Given the description of an element on the screen output the (x, y) to click on. 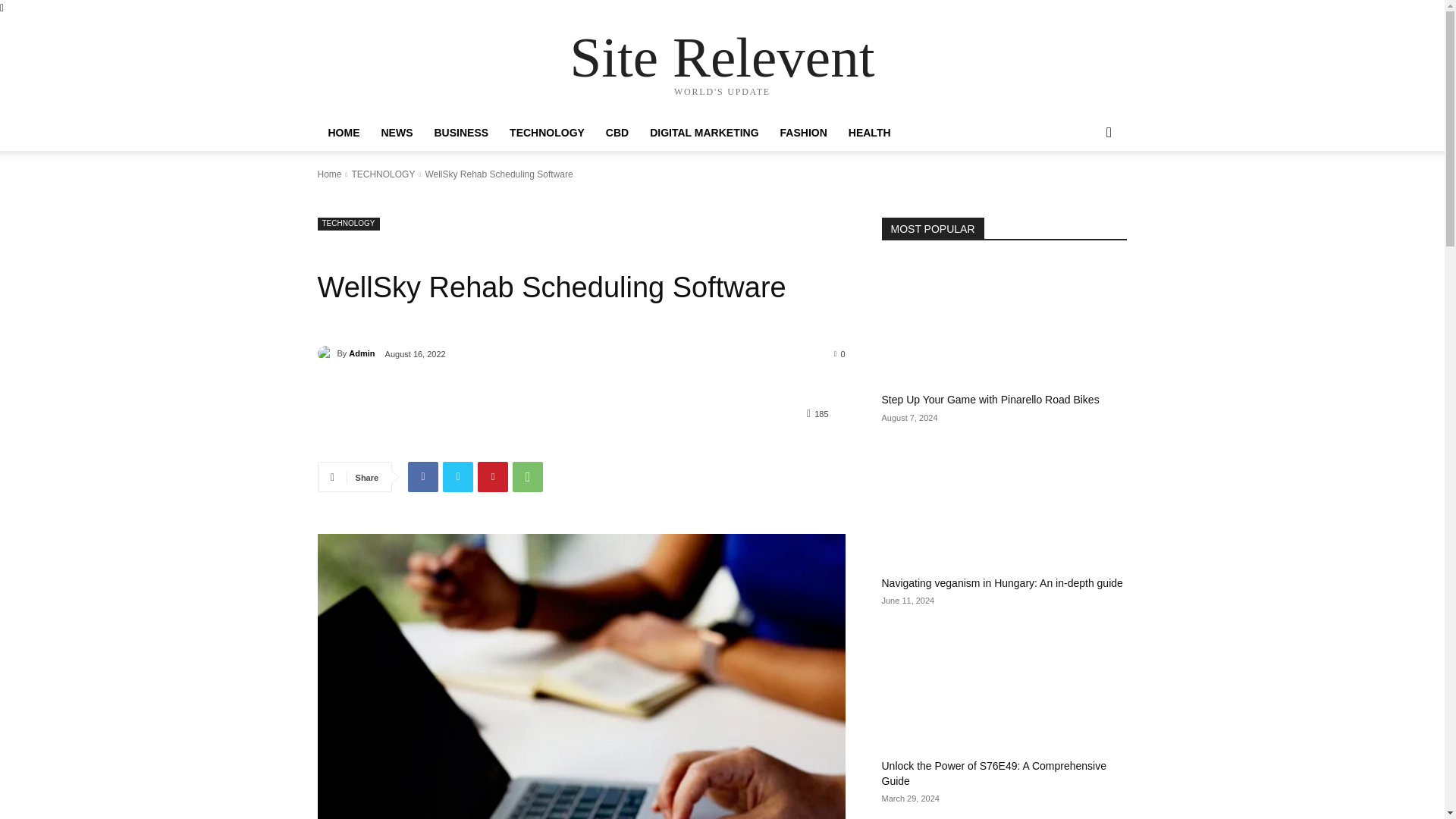
DIGITAL MARKETING (703, 132)
BUSINESS (461, 132)
FASHION (804, 132)
View all posts in TECHNOLOGY (382, 173)
Facebook (422, 476)
Admin (361, 353)
Home (328, 173)
TECHNOLOGY (547, 132)
0 (839, 352)
HEALTH (869, 132)
